Given the description of an element on the screen output the (x, y) to click on. 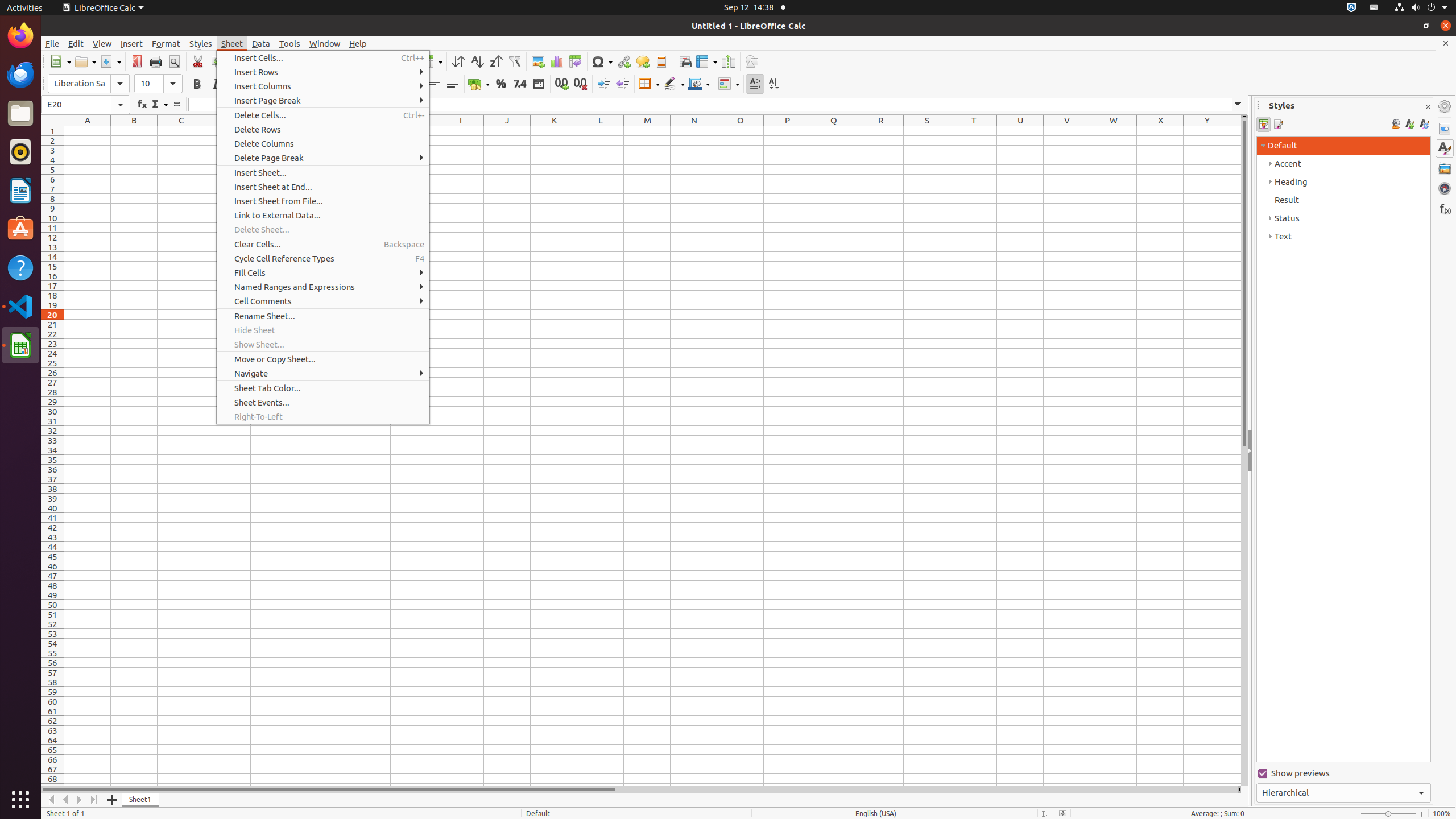
M1 Element type: table-cell (646, 130)
Select Function Element type: push-button (159, 104)
Insert Sheet... Element type: menu-item (322, 172)
Thunderbird Mail Element type: push-button (20, 74)
Border Style Element type: push-button (673, 83)
